Given the description of an element on the screen output the (x, y) to click on. 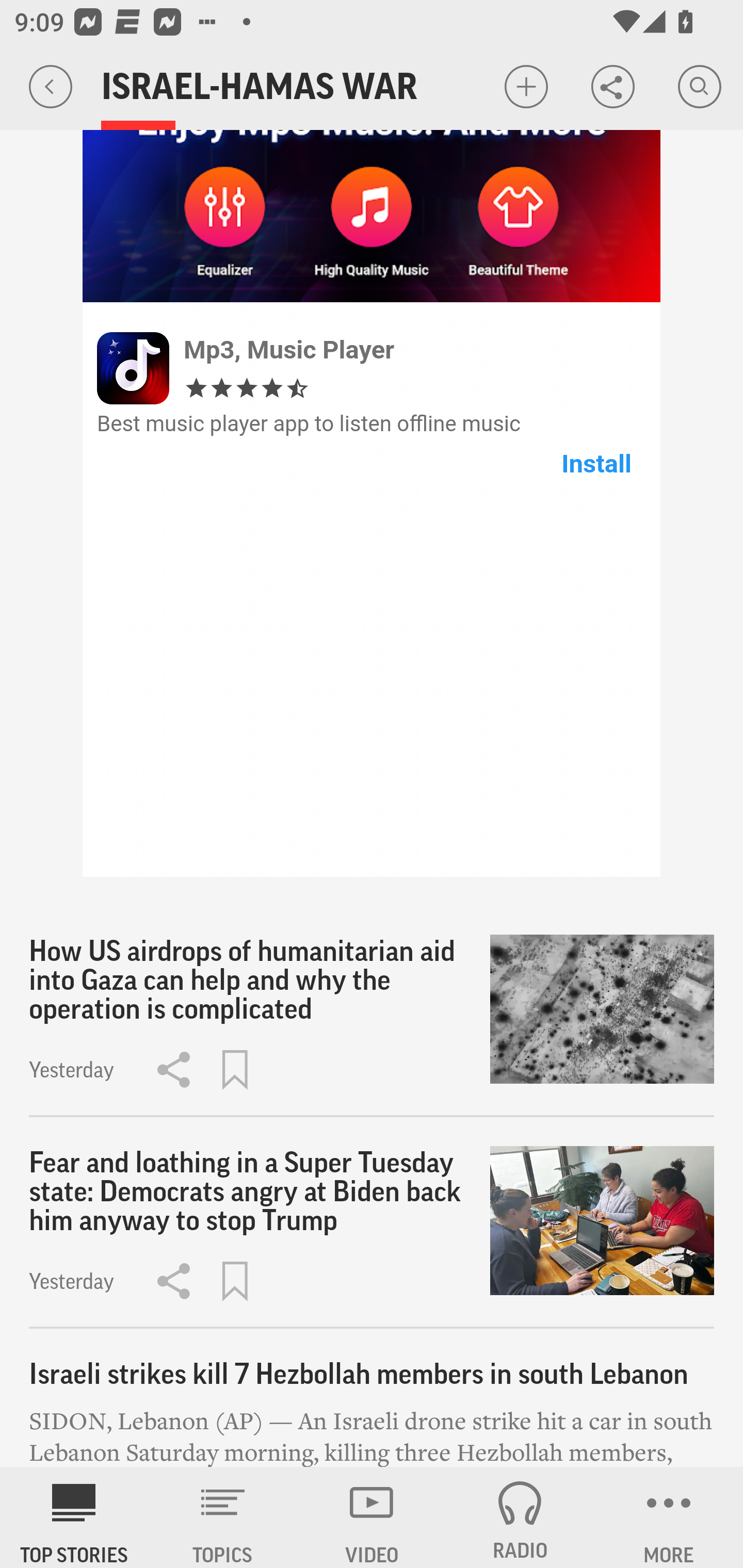
Mp3, Music Player (288, 348)
Install (595, 462)
AP News TOP STORIES (74, 1517)
TOPICS (222, 1517)
VIDEO (371, 1517)
RADIO (519, 1517)
MORE (668, 1517)
